Given the description of an element on the screen output the (x, y) to click on. 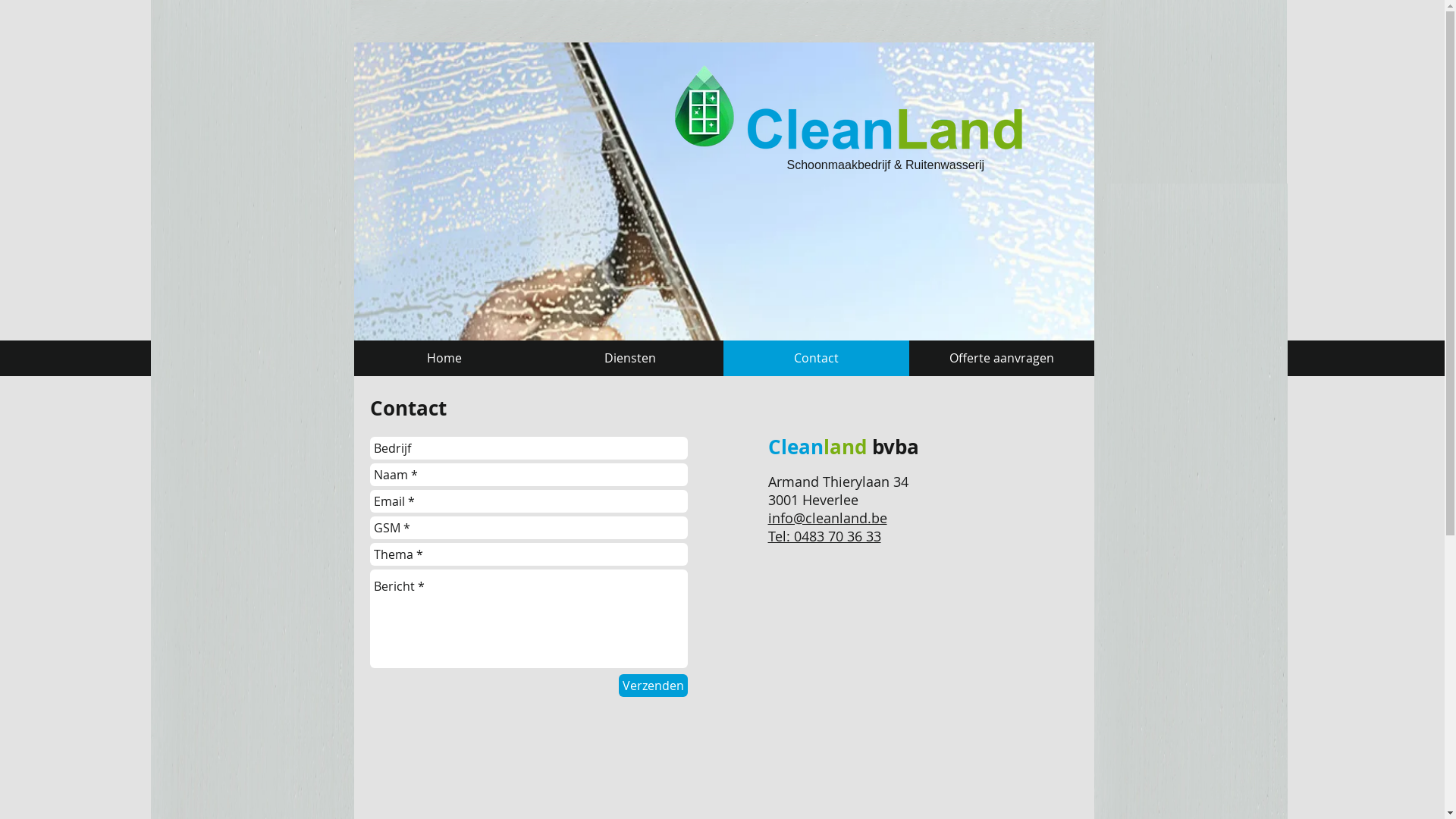
Verzenden Element type: text (652, 685)
info@cleanland.be Element type: text (826, 517)
Offerte aanvragen Element type: text (1001, 358)
Diensten Element type: text (629, 358)
Home Element type: text (444, 358)
Contact Element type: text (816, 358)
